Given the description of an element on the screen output the (x, y) to click on. 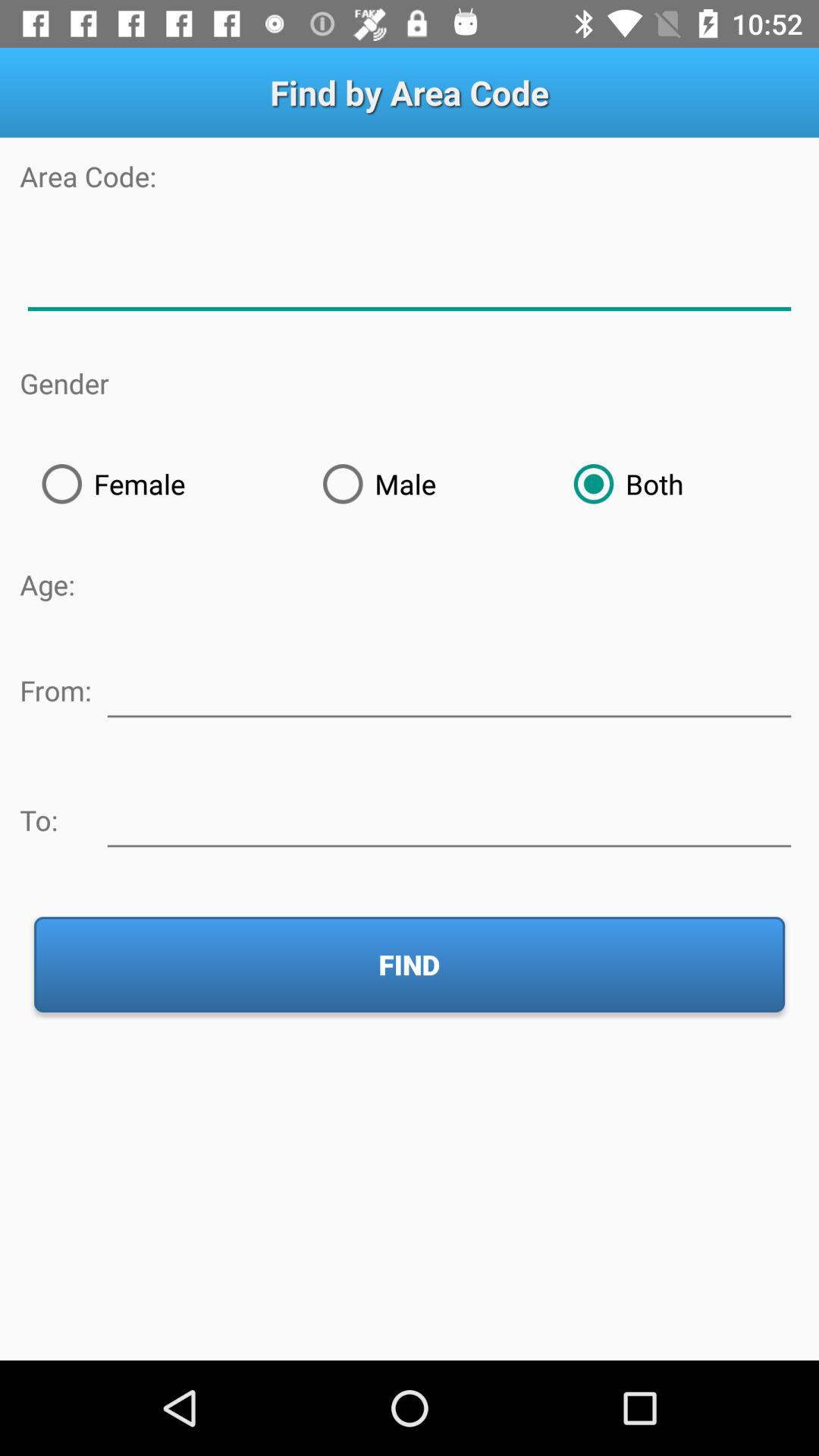
allows the user to type in where the person is from (449, 688)
